Given the description of an element on the screen output the (x, y) to click on. 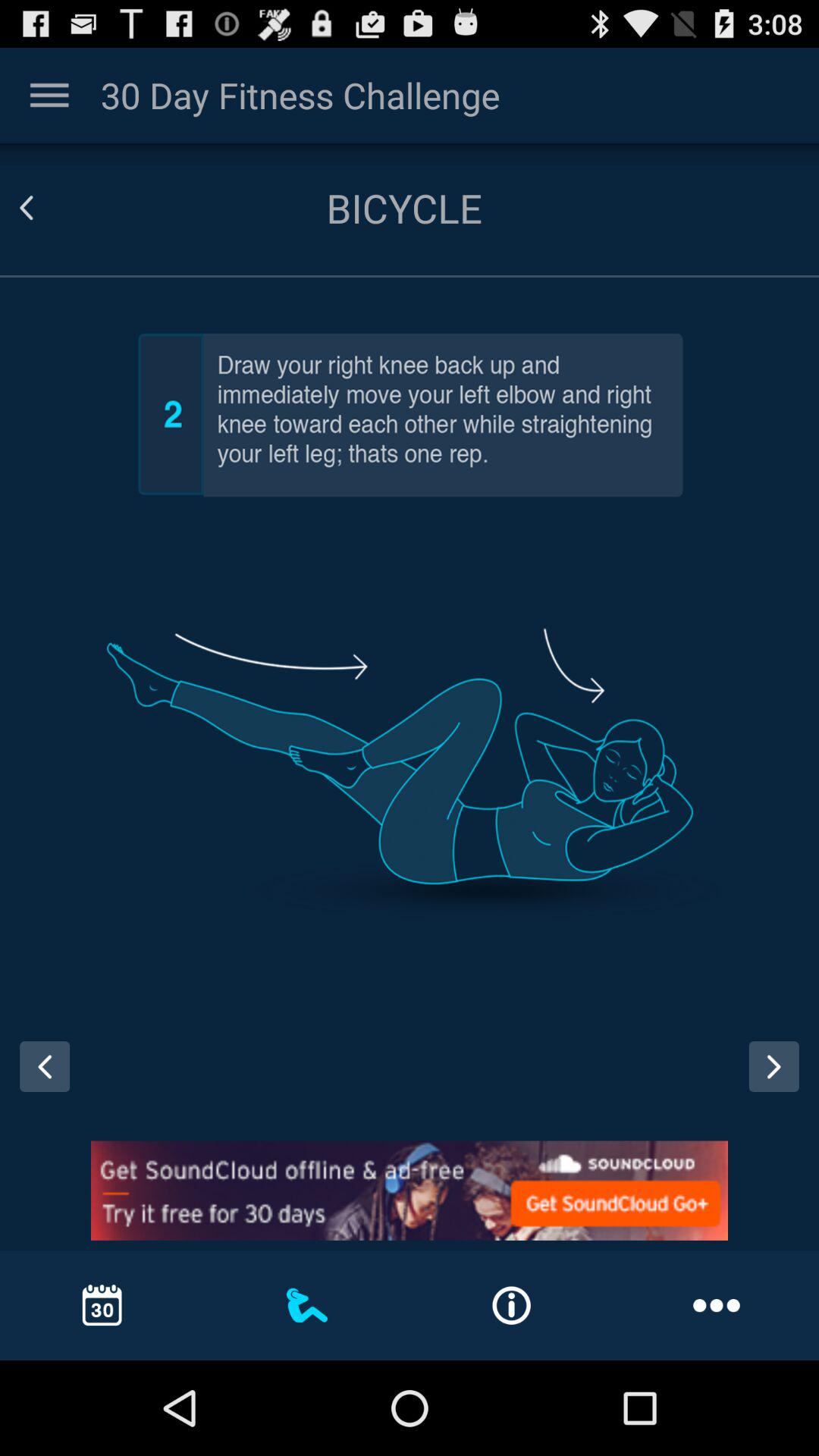
toggle advertisement (409, 1190)
